Given the description of an element on the screen output the (x, y) to click on. 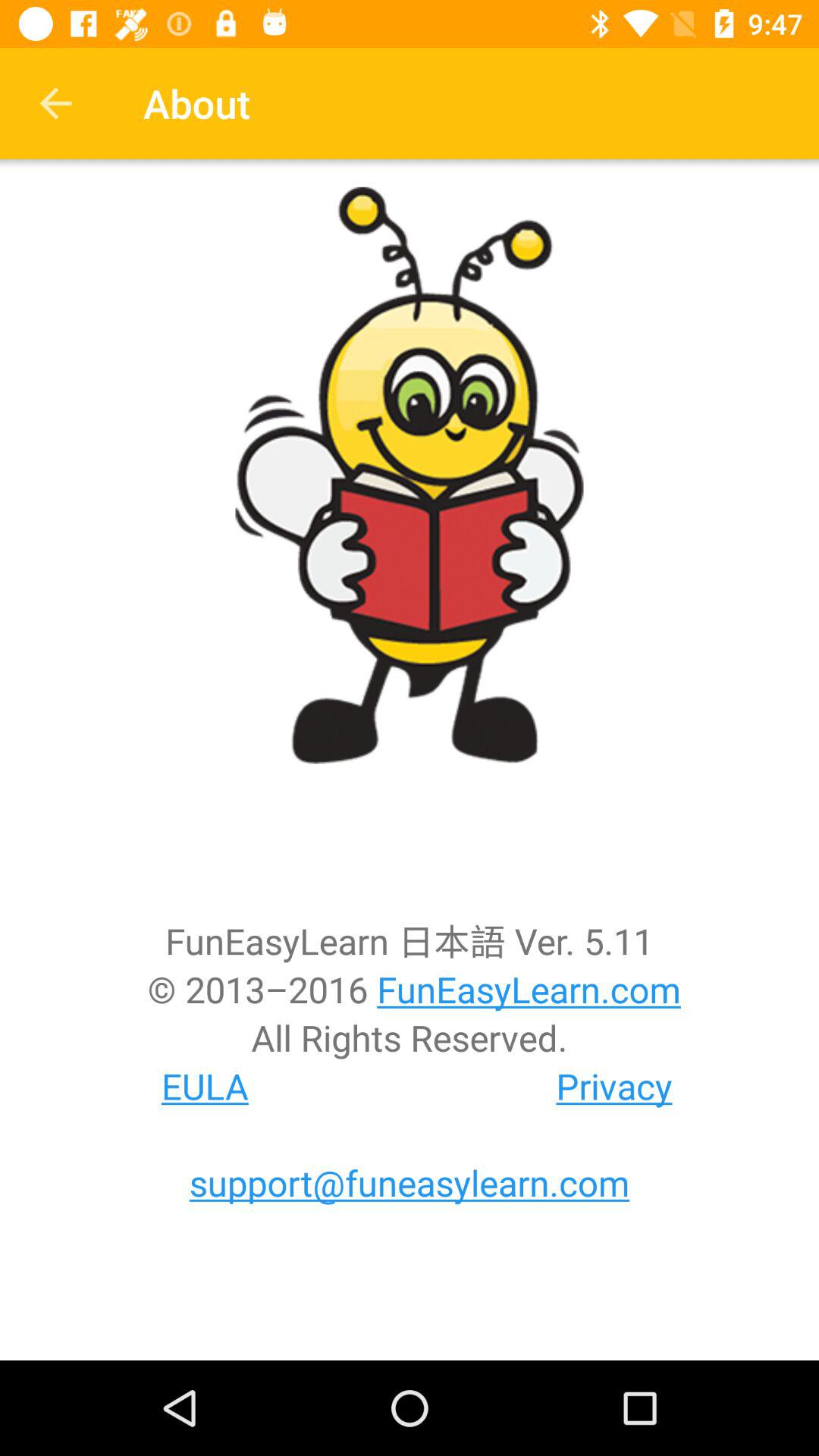
click 2013 2016 funeasylearn icon (409, 989)
